Given the description of an element on the screen output the (x, y) to click on. 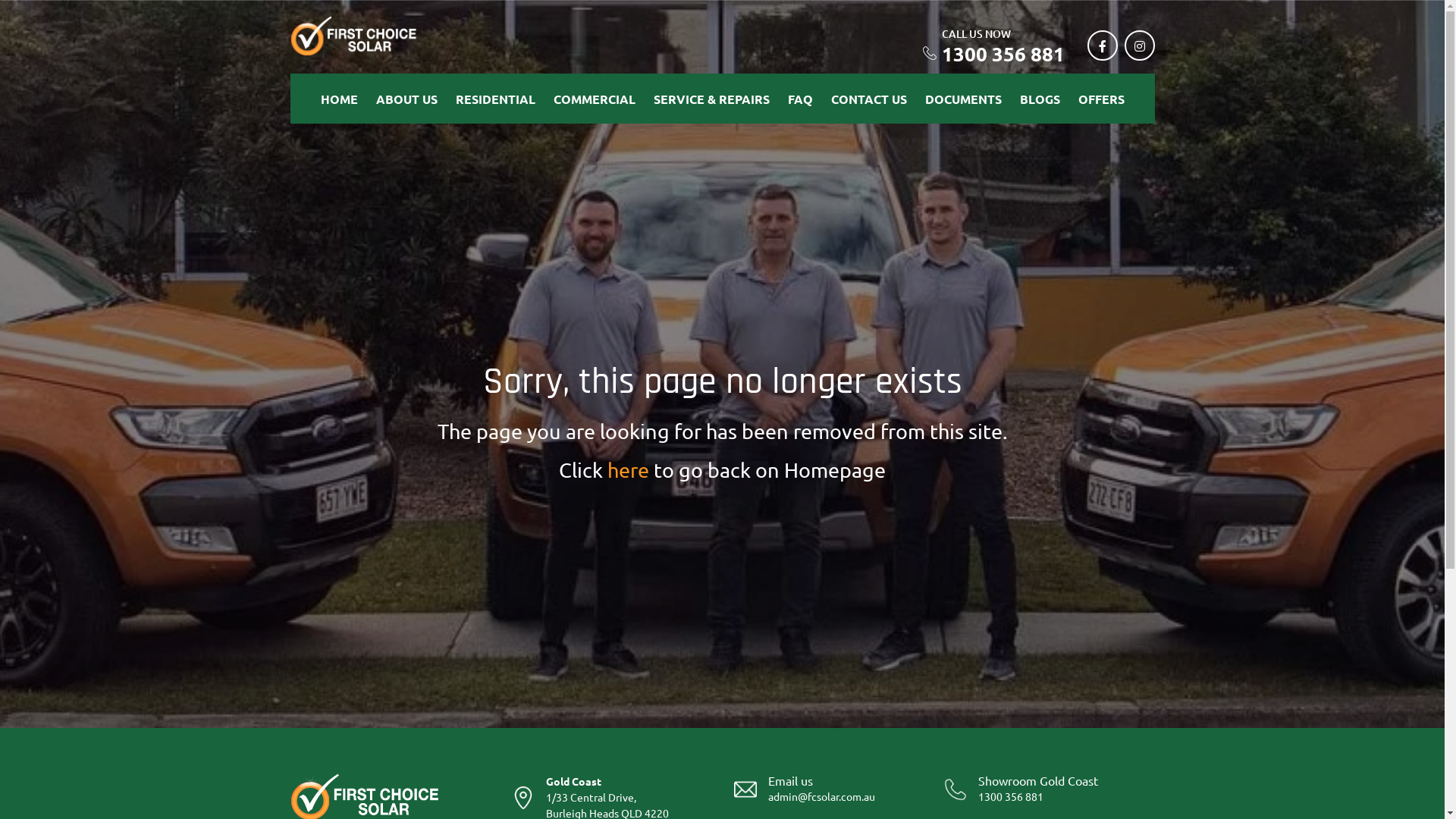
SERVICE & REPAIRS Element type: text (711, 98)
ABOUT US Element type: text (406, 98)
FAQ Element type: text (799, 98)
HOME Element type: text (338, 98)
COMMERCIAL Element type: text (594, 98)
RESIDENTIAL Element type: text (494, 98)
OFFERS Element type: text (1101, 98)
1300 356 881 Element type: text (1002, 52)
CONTACT US Element type: text (868, 98)
Gold Coast Element type: text (573, 780)
admin@fcsolar.com.au Element type: text (820, 796)
BLOGS Element type: text (1039, 98)
1300 356 881 Element type: text (1010, 796)
DOCUMENTS Element type: text (963, 98)
here Element type: text (628, 469)
